Given the description of an element on the screen output the (x, y) to click on. 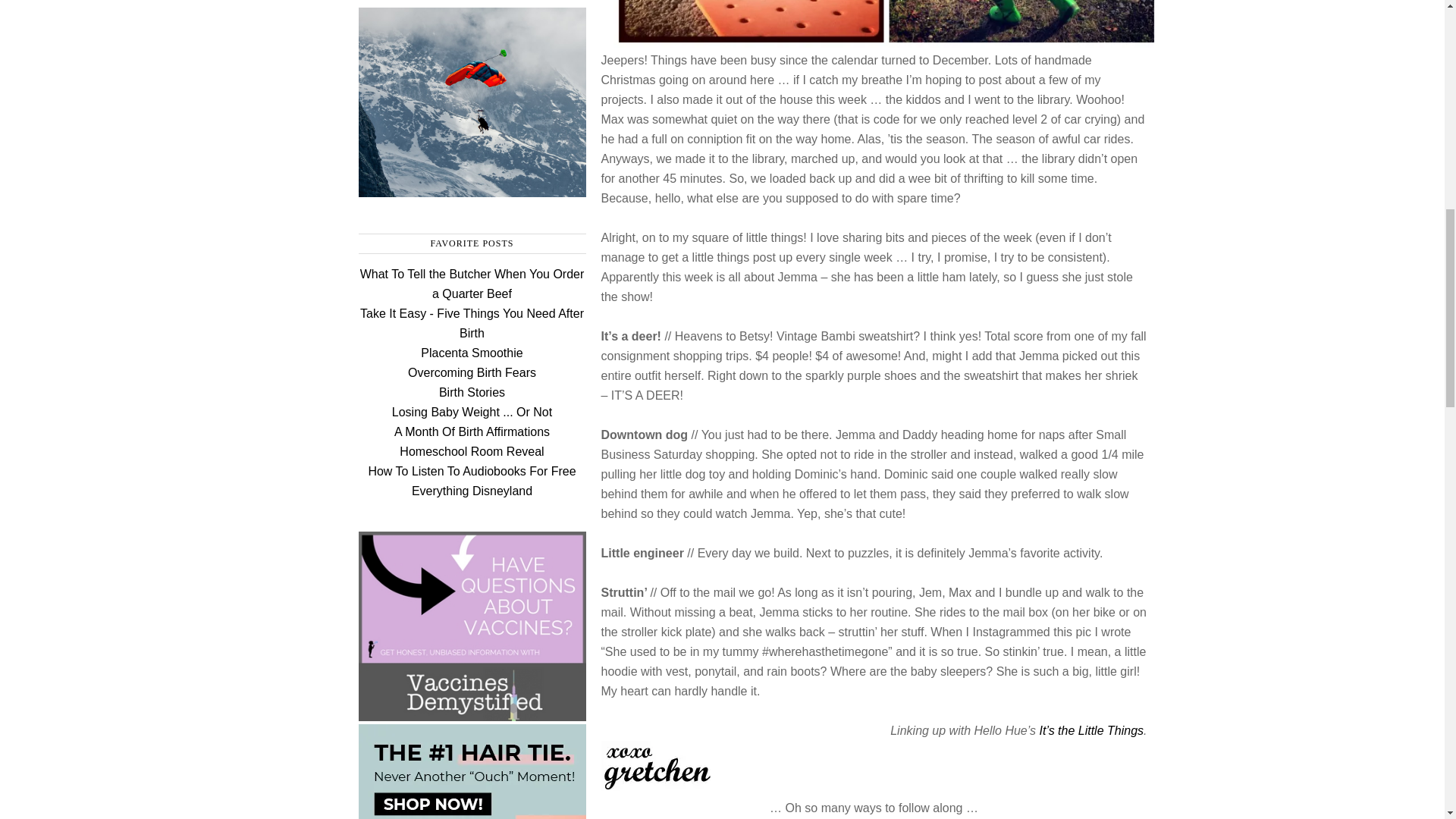
Naturopathic Pediatrics (471, 713)
